Given the description of an element on the screen output the (x, y) to click on. 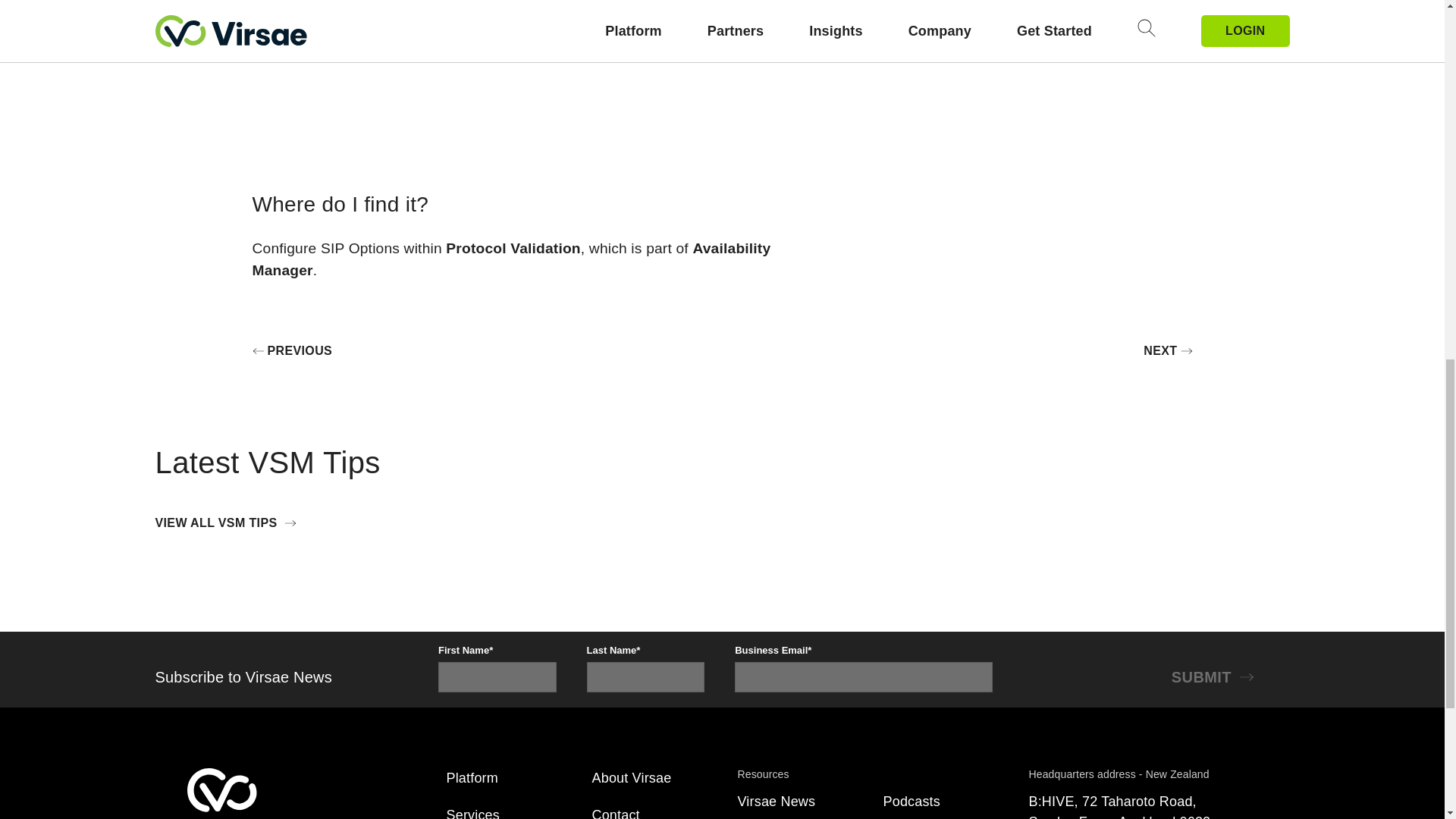
SUBMIT (1217, 676)
NEXT (1167, 351)
About Virsae (631, 777)
Platform (471, 777)
Virsae.Web.Models.PublishedContentModels.BlogLanding?.Name (775, 801)
Virsae.Web.Models.PublishedContentModels.BlogLanding?.Name (910, 801)
Contact (615, 813)
VSM Tips - SIP Options (527, 74)
PREVIOUS (291, 351)
VIEW ALL VSM TIPS (229, 523)
